Given the description of an element on the screen output the (x, y) to click on. 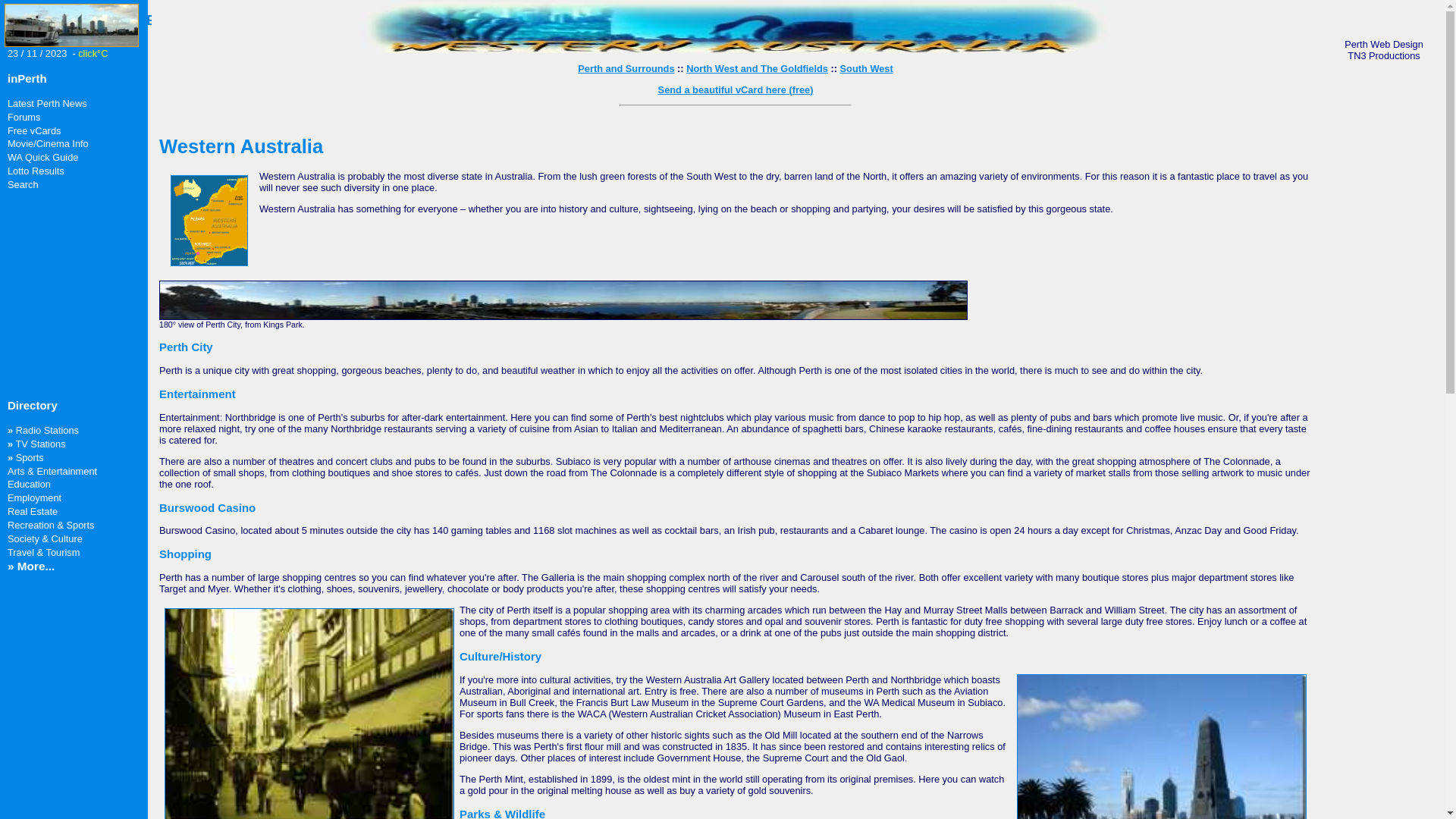
Society & Culture Element type: text (44, 538)
Perth Western Australia Element type: hover (735, 49)
Advertisement Element type: hover (1383, 309)
Free vCards Element type: text (33, 130)
Forums Element type: text (23, 116)
Movie/Cinema Info Element type: text (47, 143)
South West Element type: text (866, 68)
Arts & Entertainment Element type: text (52, 470)
Directory Element type: text (32, 404)
Send a beautiful vCard here (free) Element type: text (735, 89)
Travel & Tourism Element type: text (43, 552)
Perth and Surrounds Element type: text (625, 68)
Advertisement Element type: hover (52, 296)
Education Element type: text (28, 483)
Employment Element type: text (34, 497)
Latest Perth News Element type: text (47, 103)
inPerth Element type: text (27, 78)
WA Quick Guide Element type: text (42, 157)
Recreation & Sports Element type: text (50, 524)
Search Element type: text (22, 184)
Perth Web Design
TN3 Productions Element type: text (1383, 49)
Lotto Results Element type: text (35, 170)
North West and The Goldfields Element type: text (757, 68)
home Element type: hover (72, 43)
Advertisement Element type: hover (54, 661)
Real Estate Element type: text (32, 511)
